Given the description of an element on the screen output the (x, y) to click on. 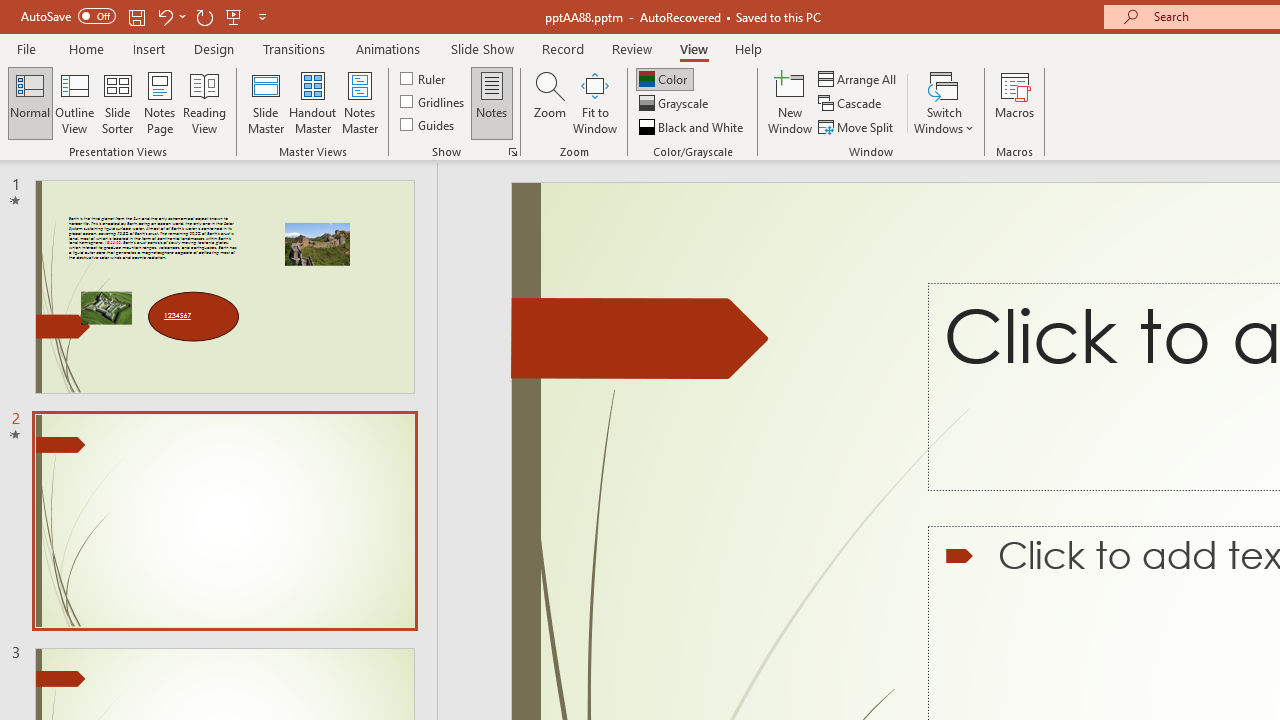
Move Split (857, 126)
Handout Master (312, 102)
Switch Windows (943, 102)
